Given the description of an element on the screen output the (x, y) to click on. 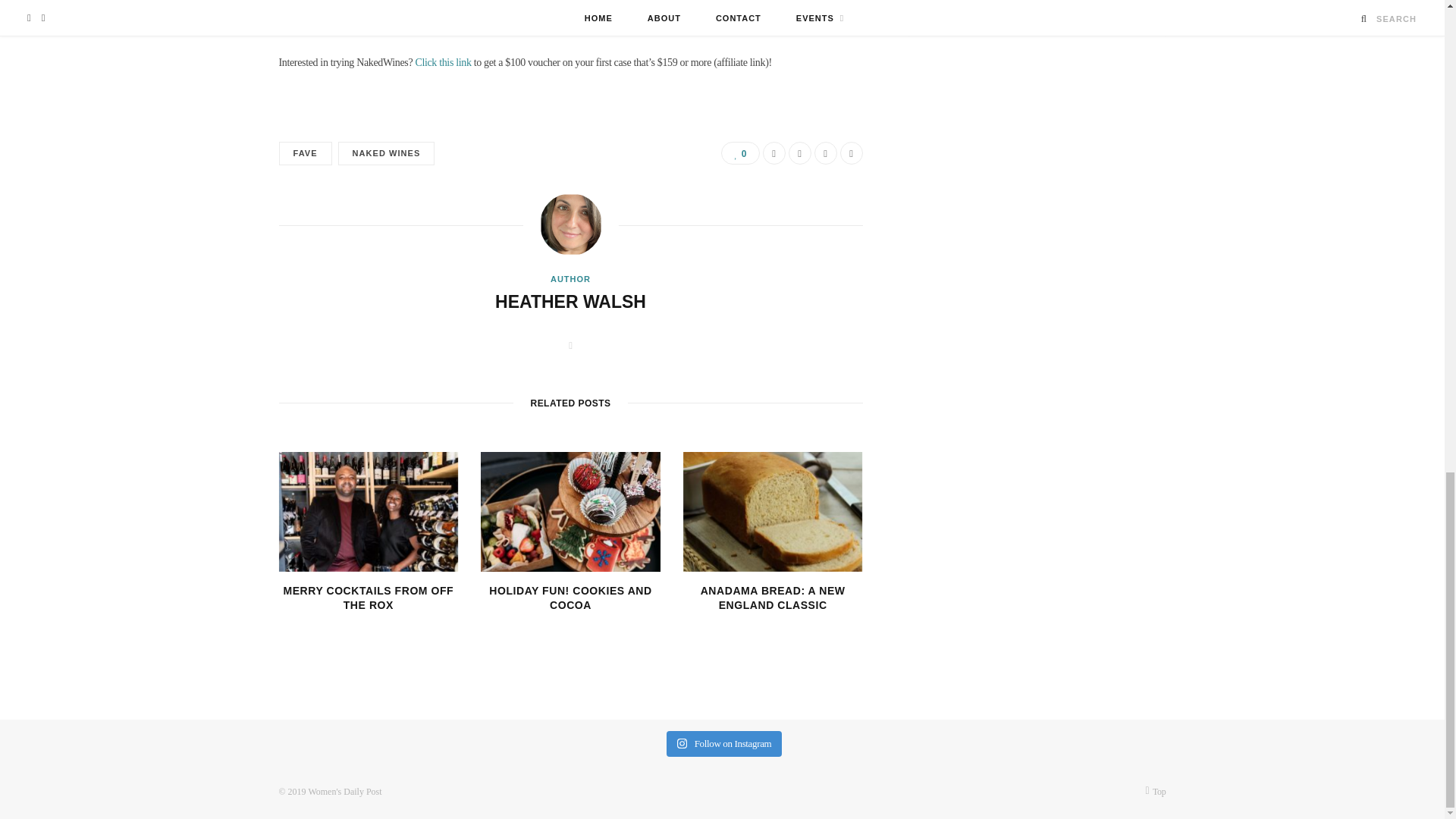
MERRY COCKTAILS FROM OFF THE ROX (367, 597)
Share on Facebook (774, 152)
NAKED WINES (386, 153)
Posts by Heather Walsh (570, 301)
Email (851, 152)
Share on Twitter (799, 152)
HOLIDAY FUN! COOKIES AND COCOA (569, 597)
ANADAMA BREAD: A NEW ENGLAND CLASSIC (772, 597)
0 (739, 152)
Pinterest (825, 152)
FAVE (305, 153)
Follow on Instagram (724, 743)
Holiday Fun! Cookies and Cocoa (570, 511)
HEATHER WALSH (570, 301)
Click this link (442, 61)
